Given the description of an element on the screen output the (x, y) to click on. 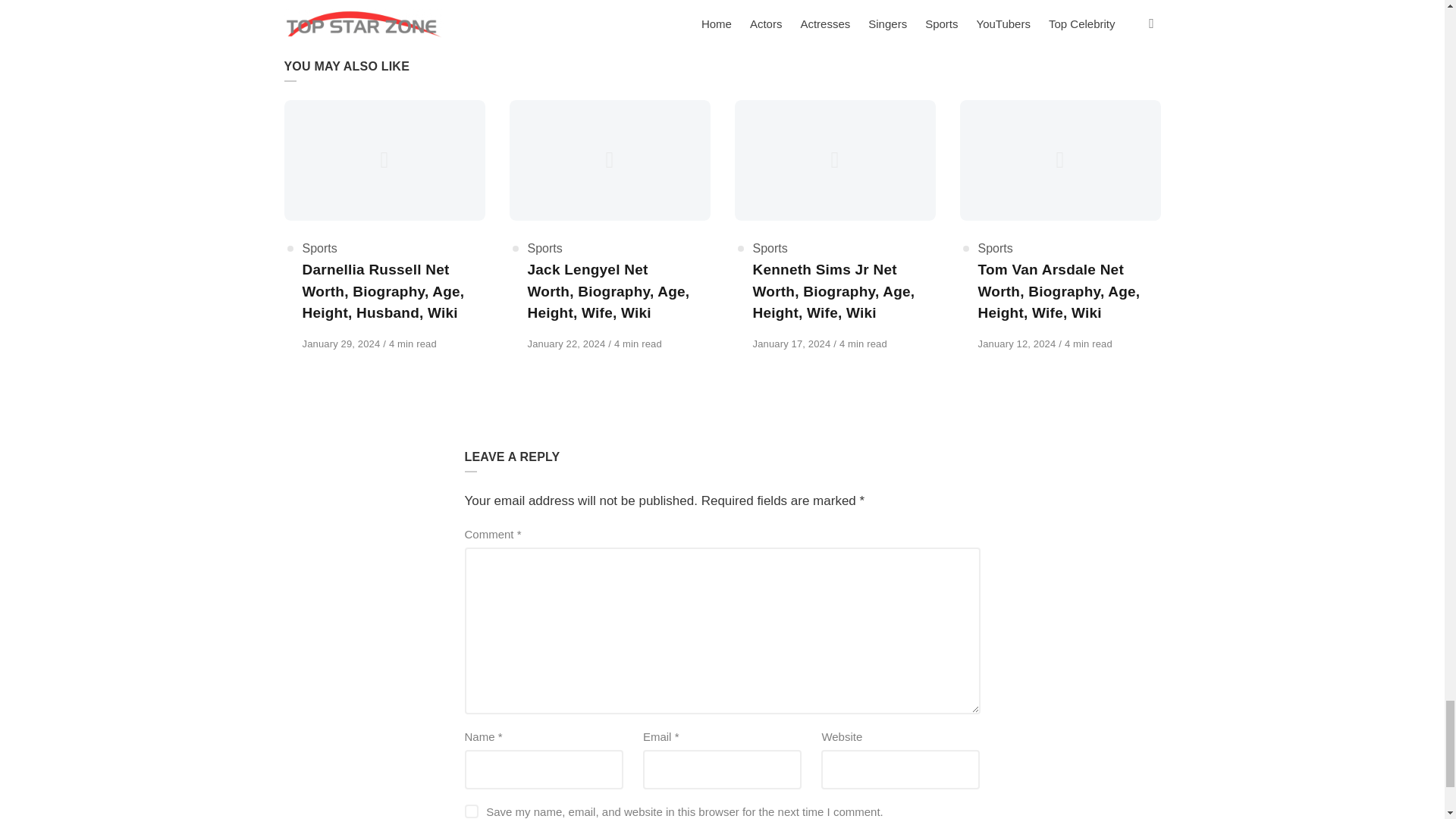
Sports (769, 247)
January 17, 2024 (792, 343)
January 29, 2024 (341, 343)
January 29, 2024 (341, 343)
Sports (318, 247)
Sports (544, 247)
January 22, 2024 (567, 343)
yes (470, 811)
January 12, 2024 (1018, 343)
January 17, 2024 (792, 343)
